Given the description of an element on the screen output the (x, y) to click on. 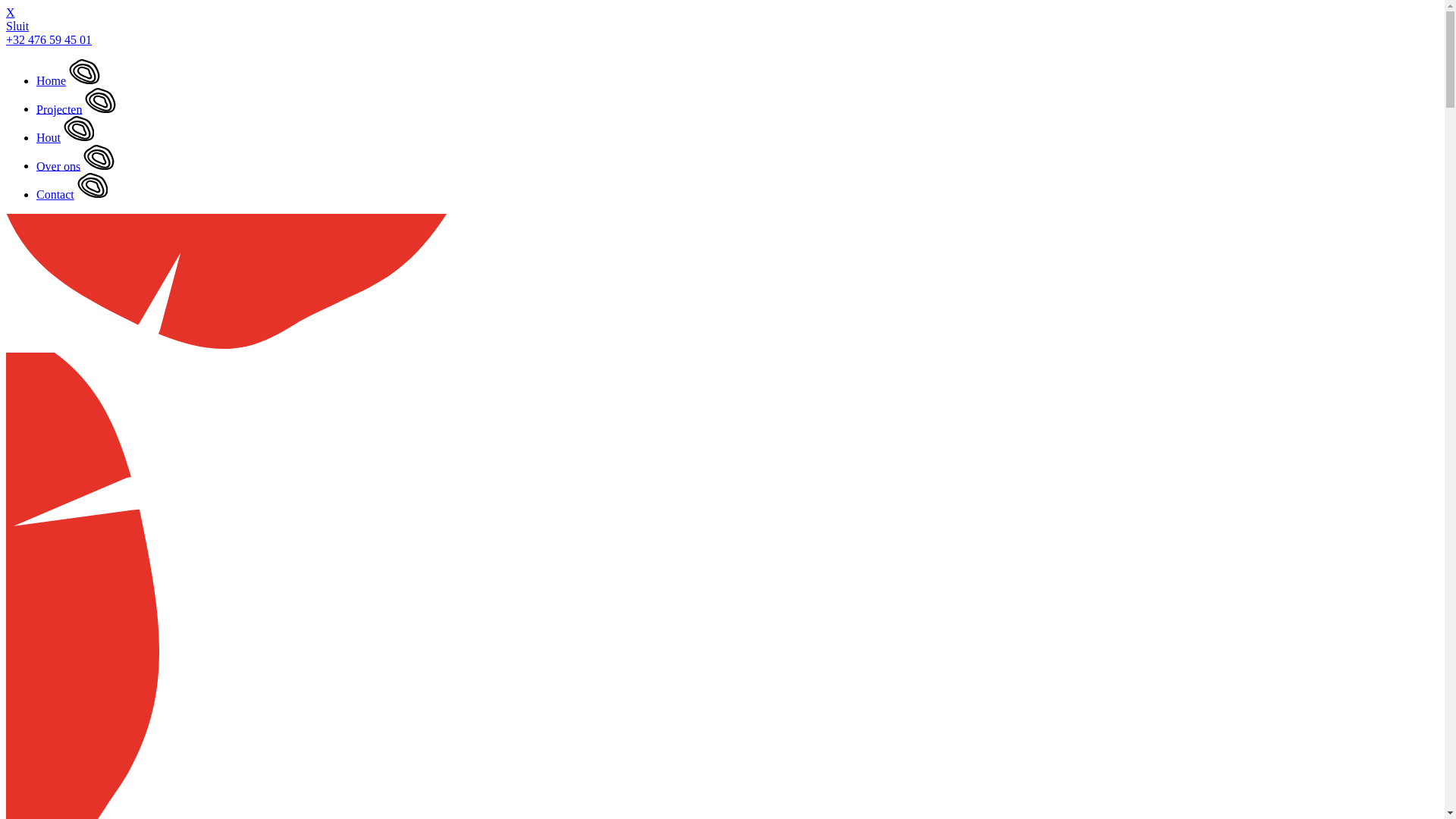
Hout Element type: text (48, 137)
+32 476 59 45 01 Element type: text (48, 39)
Home Element type: text (50, 80)
Contact Element type: text (55, 194)
Projecten Element type: text (58, 108)
X
Sluit Element type: text (722, 19)
Over ons Element type: text (58, 165)
